Given the description of an element on the screen output the (x, y) to click on. 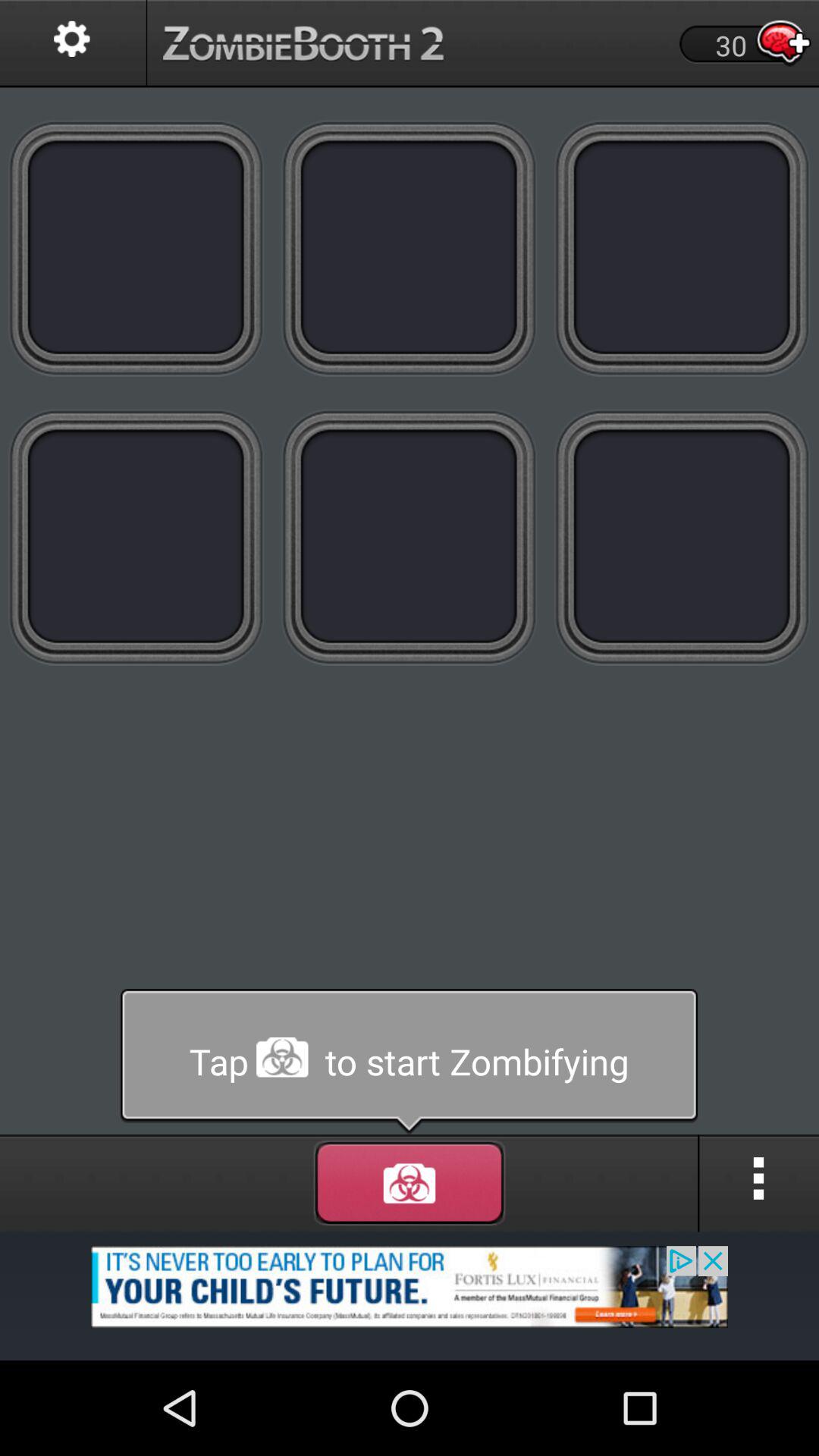
start tab (408, 1061)
